Given the description of an element on the screen output the (x, y) to click on. 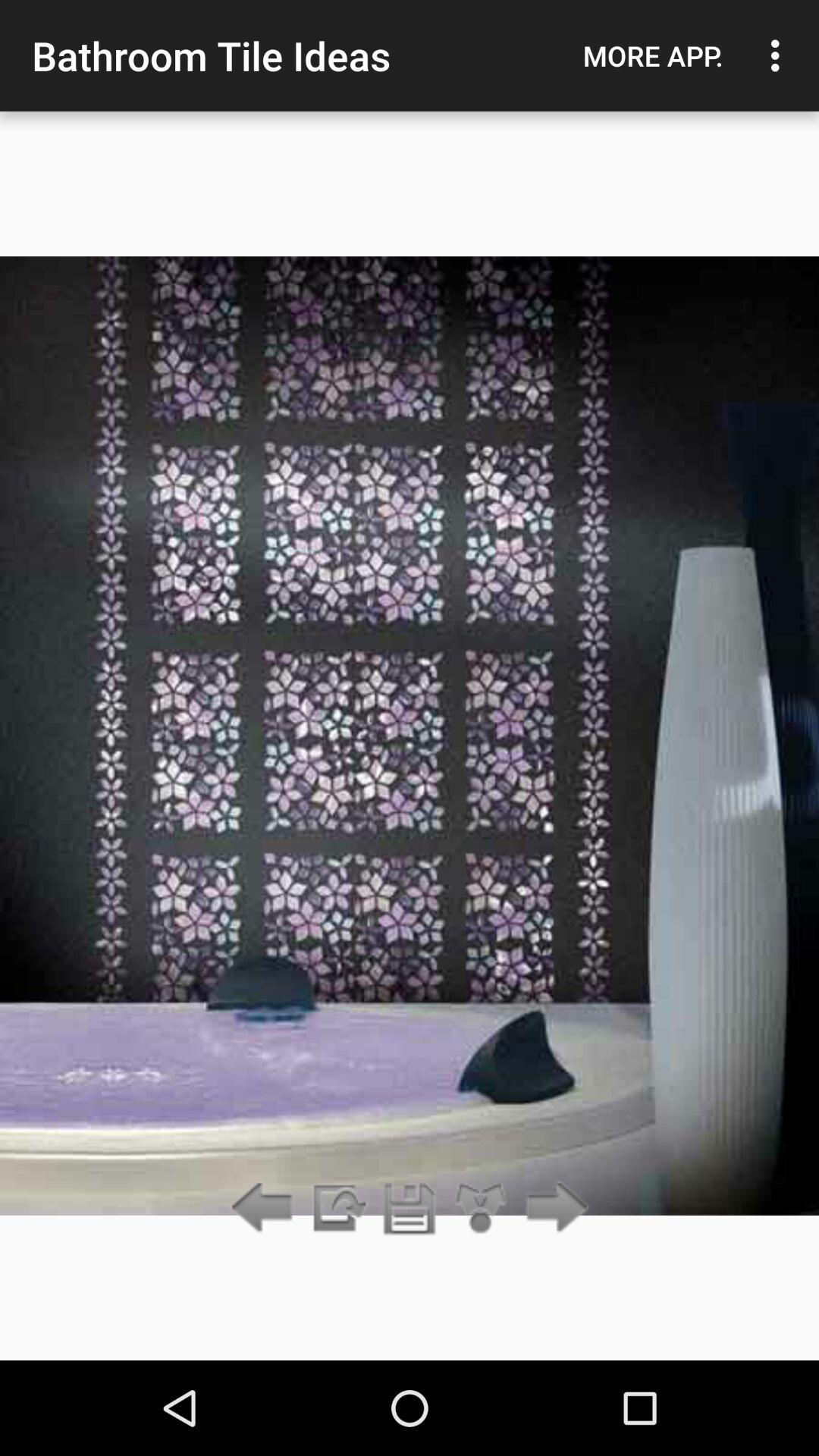
go back option (266, 1209)
